Given the description of an element on the screen output the (x, y) to click on. 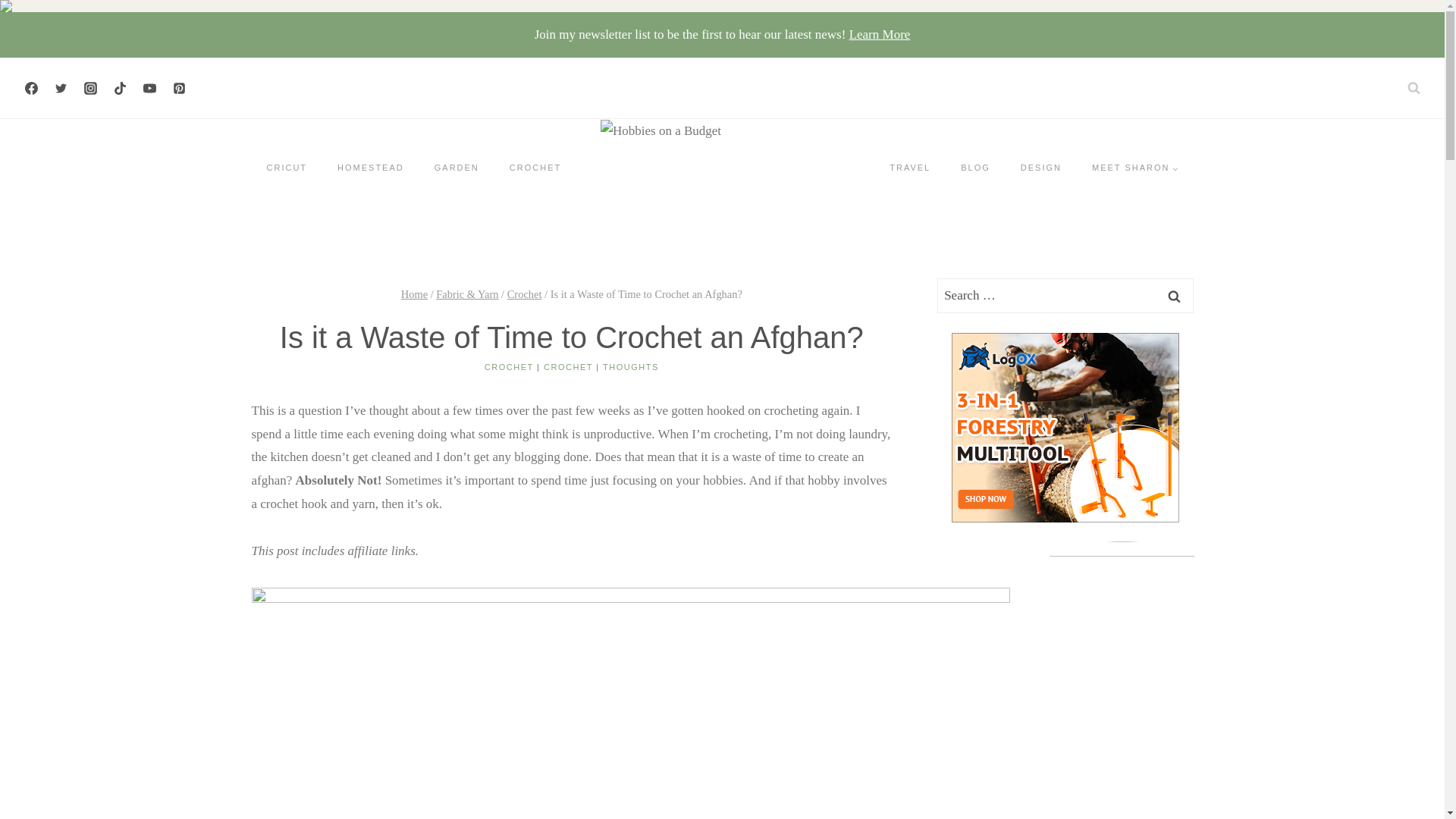
Search (1174, 295)
CROCHET (509, 366)
Learn More (879, 34)
Search (1174, 295)
THOUGHTS (630, 366)
DESIGN (1041, 168)
Home (414, 294)
BLOG (975, 168)
TRAVEL (909, 168)
HOMESTEAD (370, 168)
CRICUT (287, 168)
MEET SHARON (1134, 168)
CROCHET (567, 366)
Crochet (523, 294)
CROCHET (535, 168)
